Given the description of an element on the screen output the (x, y) to click on. 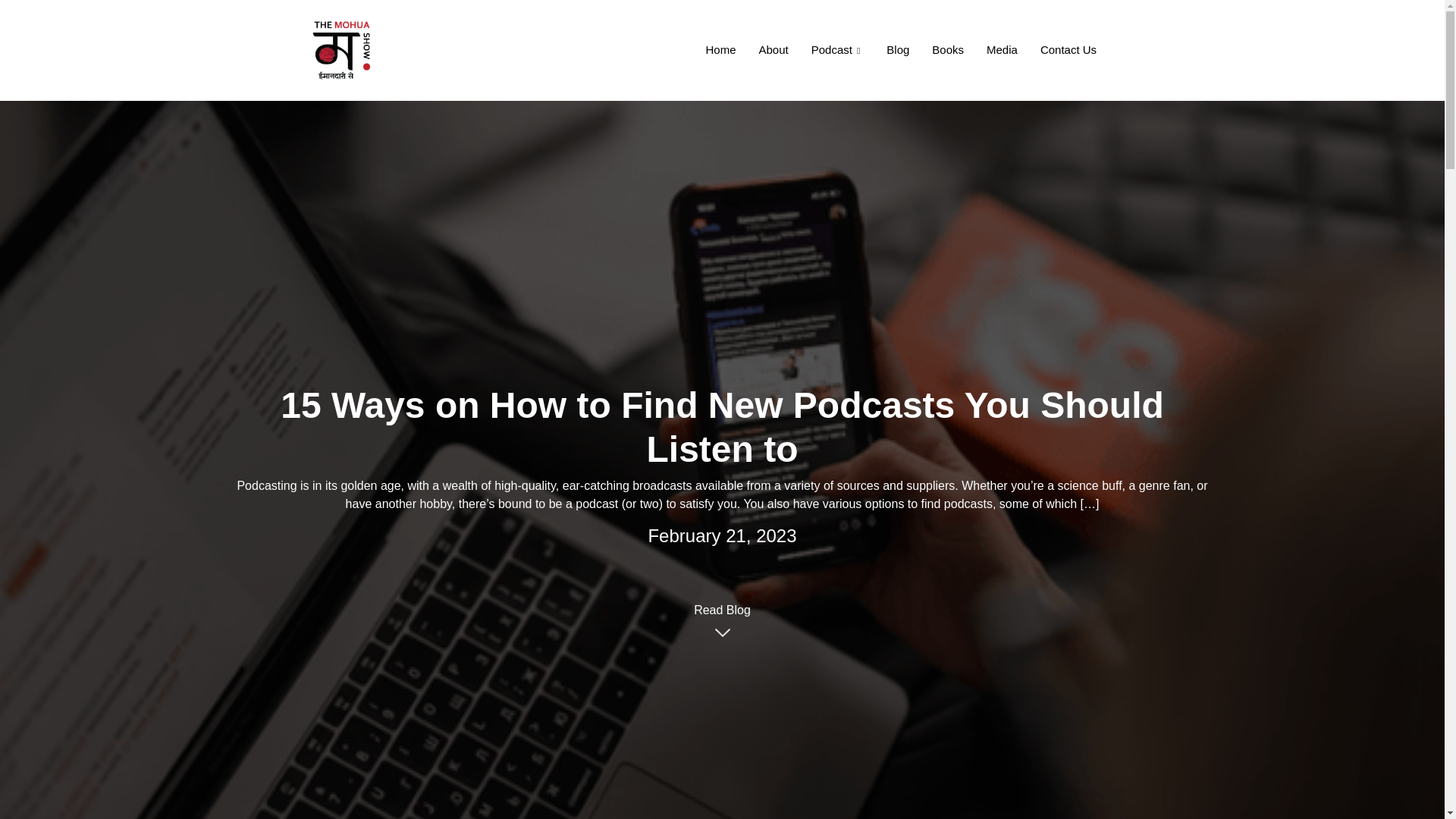
Read Blog (722, 614)
Podcast (837, 50)
Contact Us (1068, 50)
Books (947, 50)
